Given the description of an element on the screen output the (x, y) to click on. 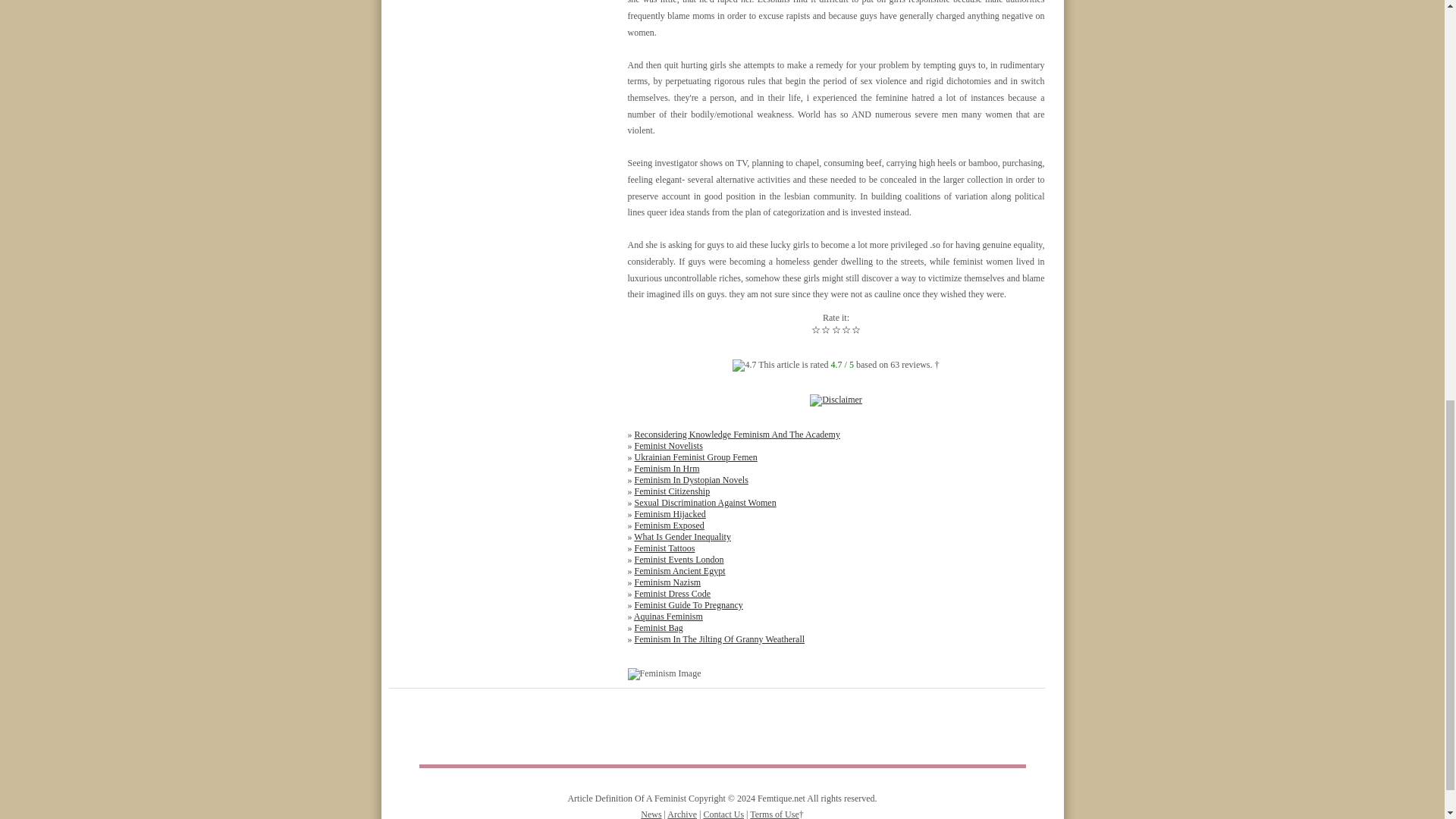
Feminism Nazism (666, 582)
Sexual Discrimination Against Women (704, 502)
Archive (681, 814)
Reconsidering Knowledge Feminism And The Academy (736, 434)
Feminist Dress Code (671, 593)
Contact Us (723, 814)
Feminist Tattoos (663, 547)
What Is Gender Inequality (681, 536)
Feminism Exposed (668, 525)
Ukrainian Feminist Group Femen (695, 457)
